Given the description of an element on the screen output the (x, y) to click on. 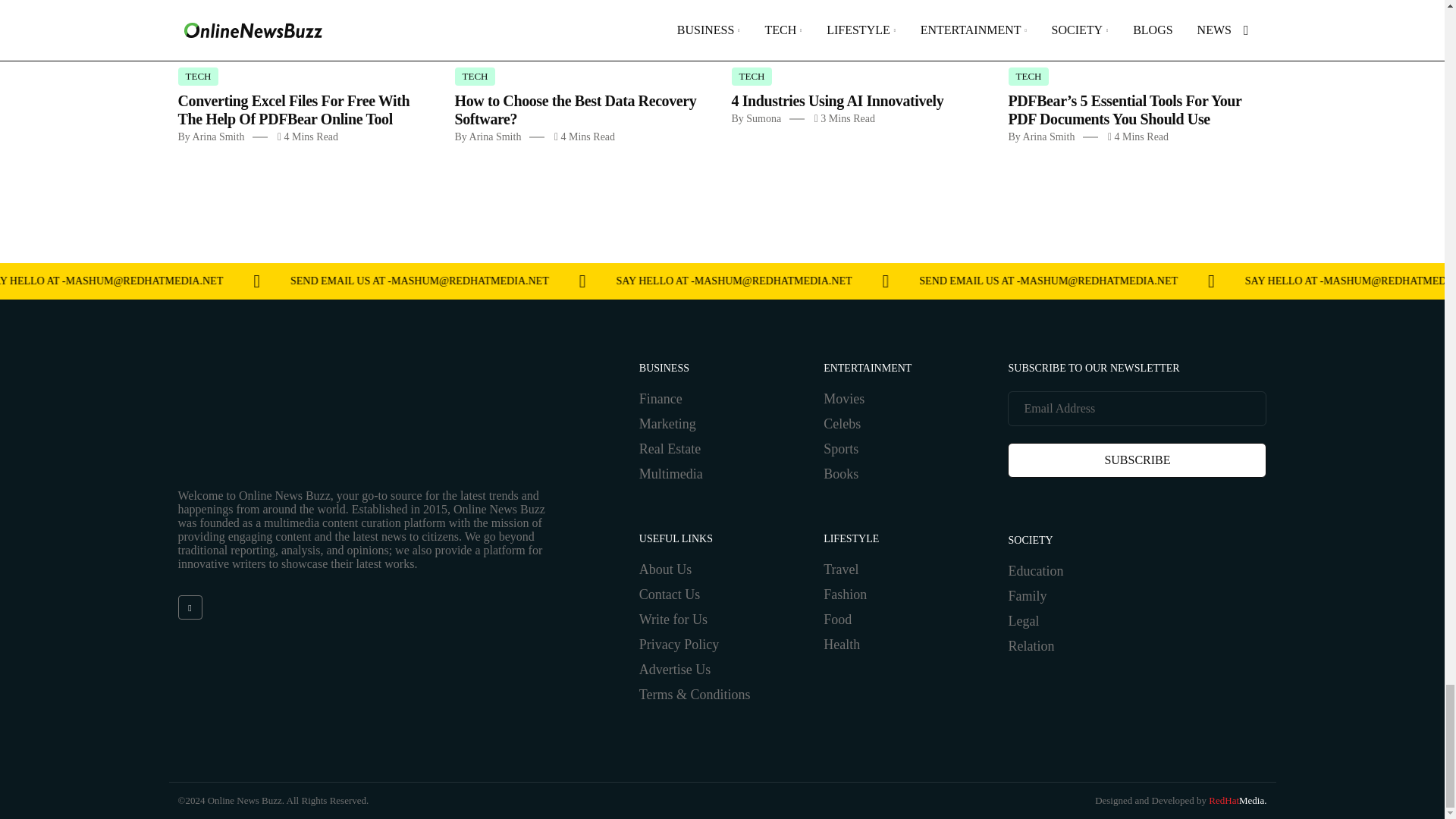
Tech (475, 76)
Tech (750, 76)
Tech (1029, 76)
Subscribe (1136, 460)
Tech (197, 76)
